Given the description of an element on the screen output the (x, y) to click on. 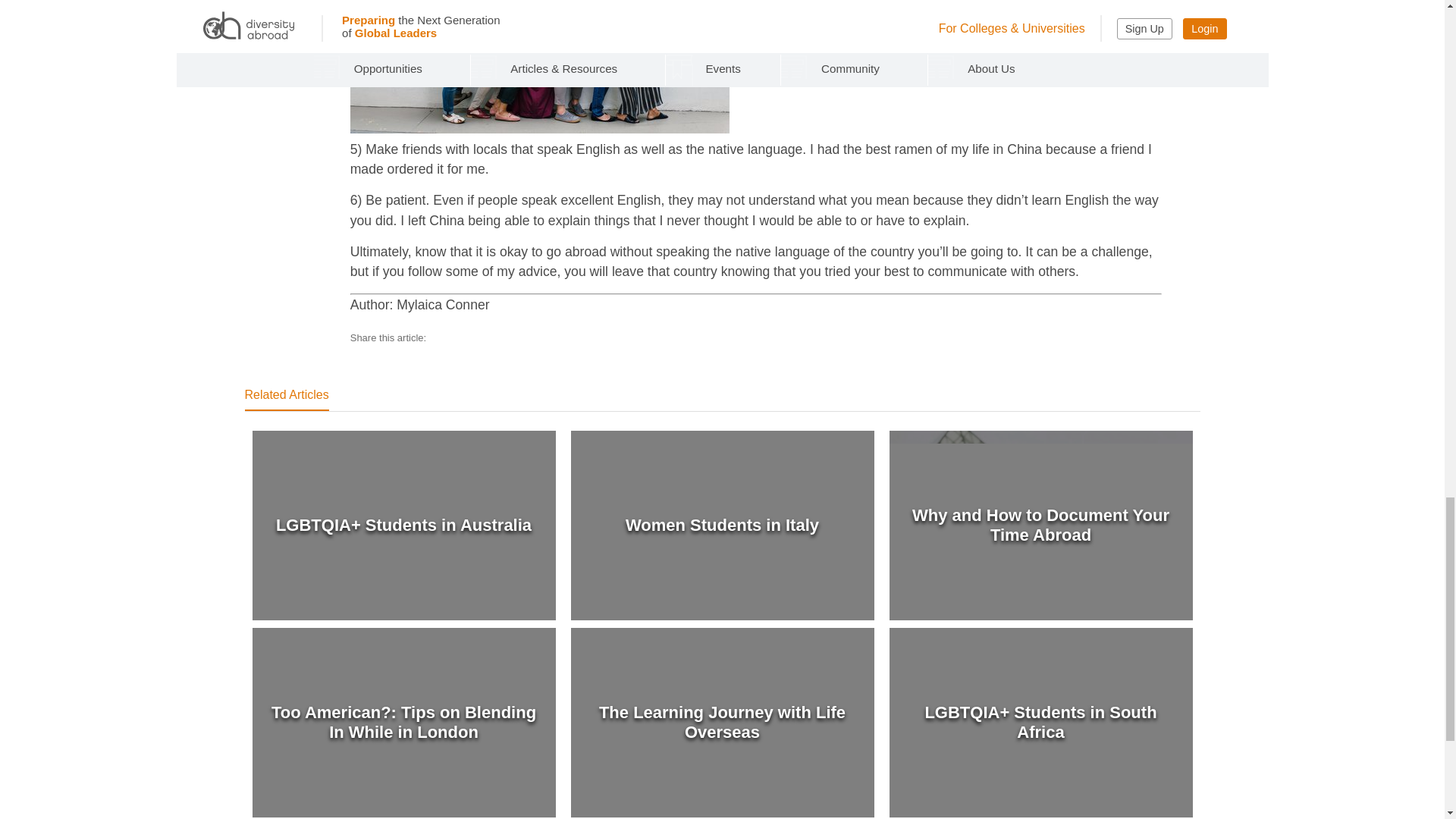
Women Students in Italy (721, 525)
Why and How to Document Your Time Abroad (1040, 525)
The Learning Journey with Life Overseas (721, 722)
Too American?: Tips on Blending In While in London (402, 722)
